Given the description of an element on the screen output the (x, y) to click on. 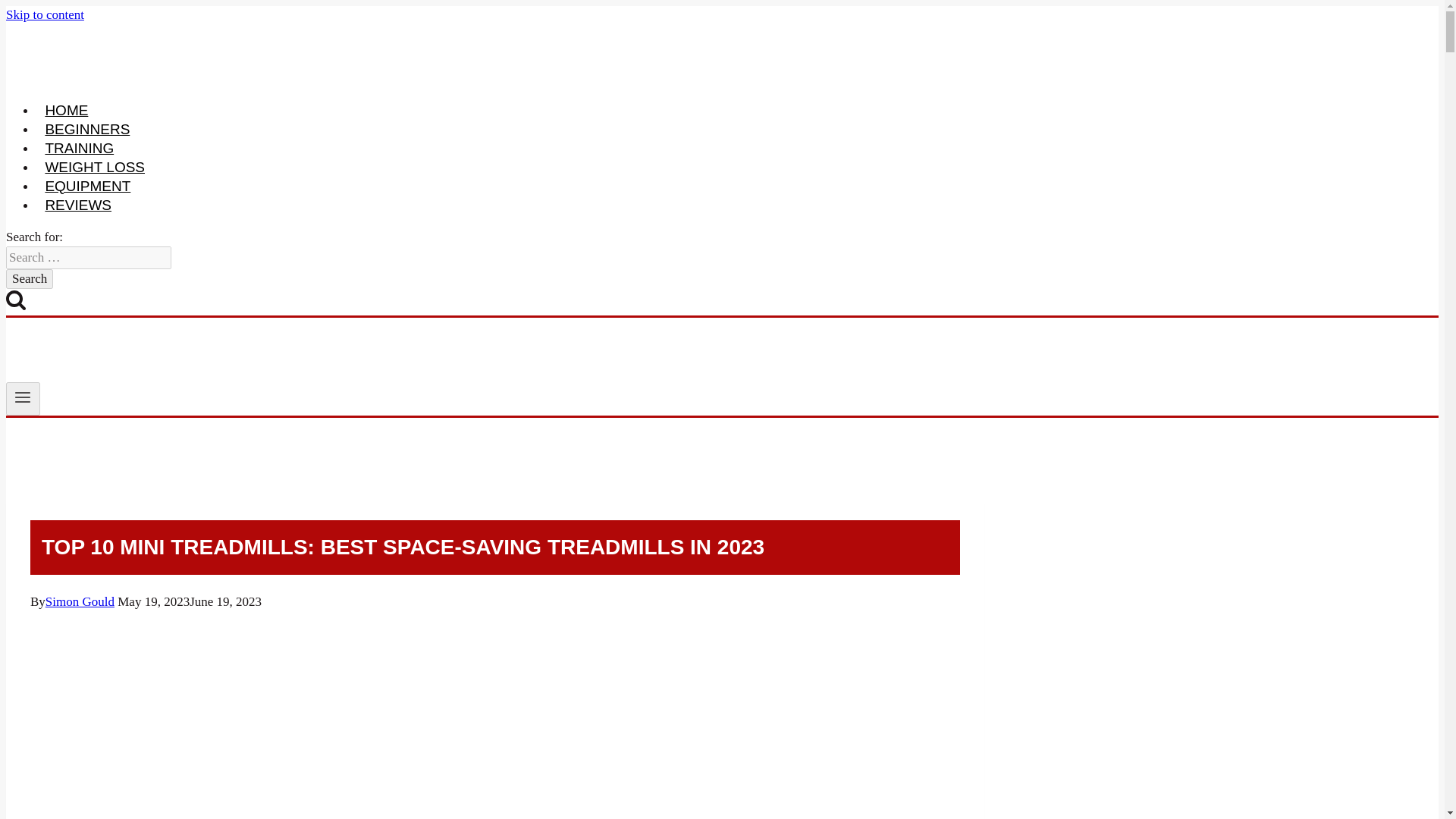
Toggle Menu (22, 397)
TRAINING (79, 148)
EQUIPMENT (87, 186)
Simon Gould (80, 601)
Search (28, 279)
Skip to content (44, 14)
REVIEWS (77, 205)
Search (28, 279)
Search (28, 279)
Toggle Menu (22, 398)
